Given the description of an element on the screen output the (x, y) to click on. 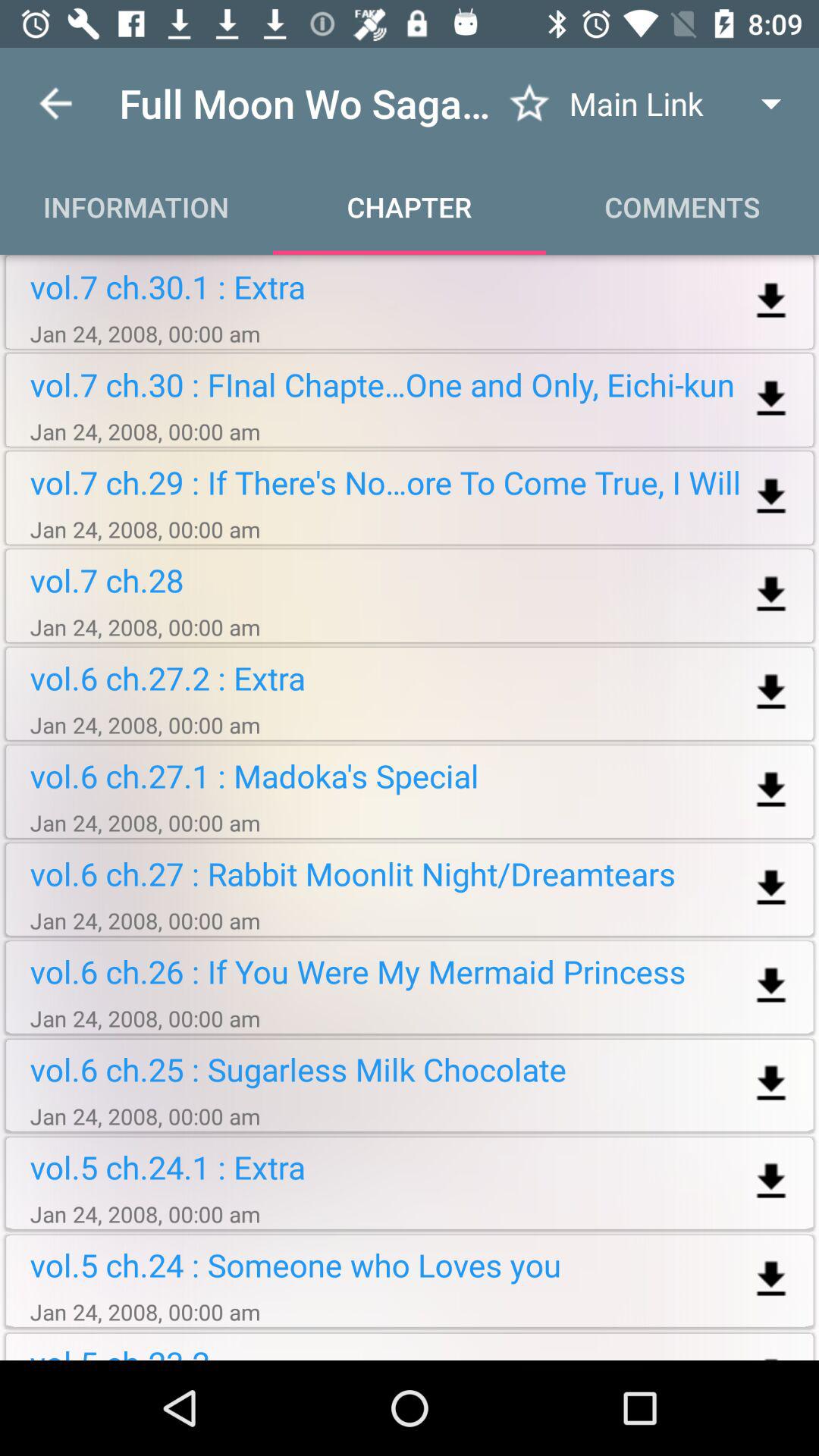
go to download (771, 1181)
